Given the description of an element on the screen output the (x, y) to click on. 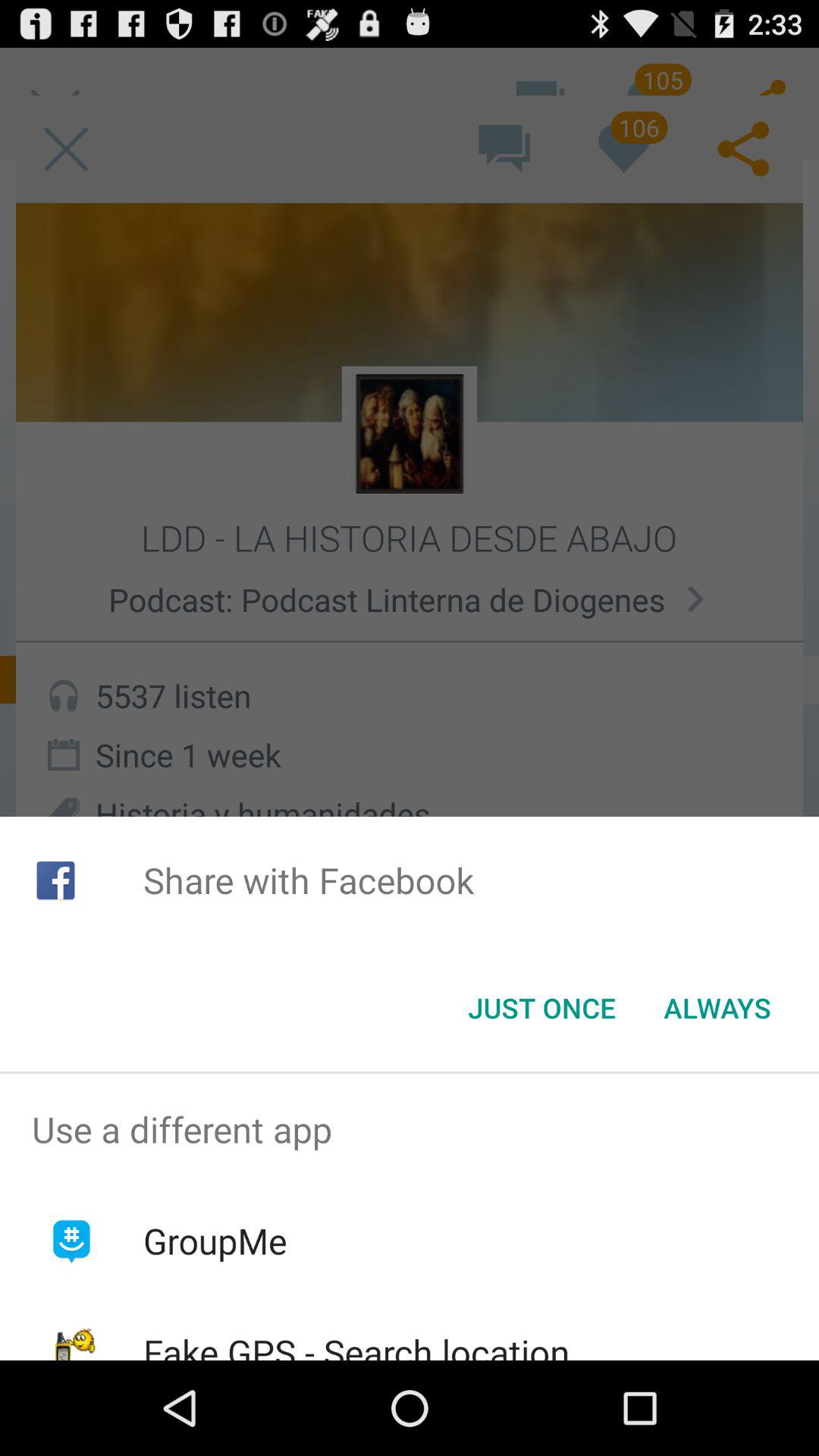
jump to the fake gps search app (356, 1344)
